Given the description of an element on the screen output the (x, y) to click on. 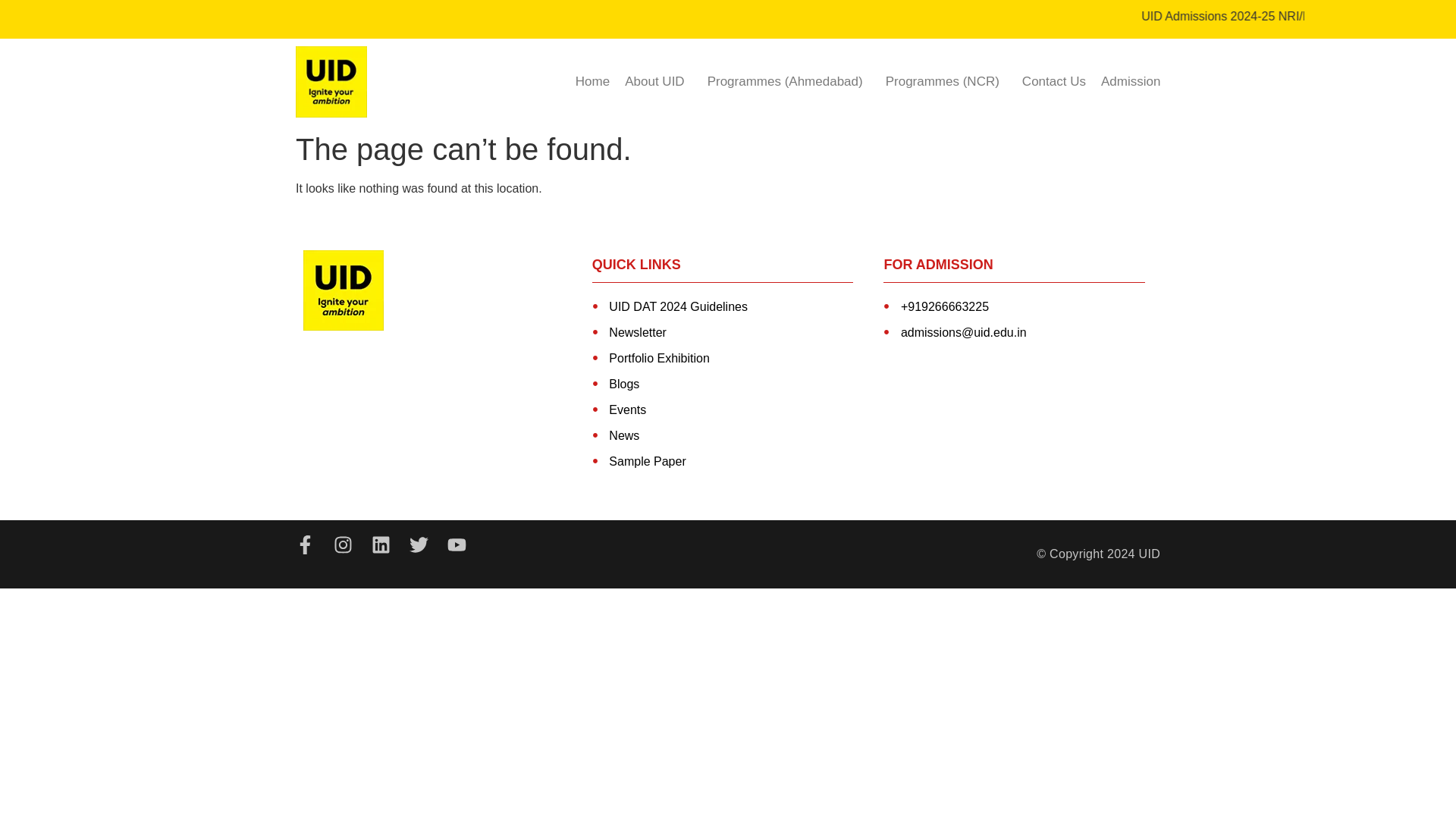
Home (592, 81)
Contact Us (1053, 81)
Admission (1130, 81)
About UID (657, 81)
